Given the description of an element on the screen output the (x, y) to click on. 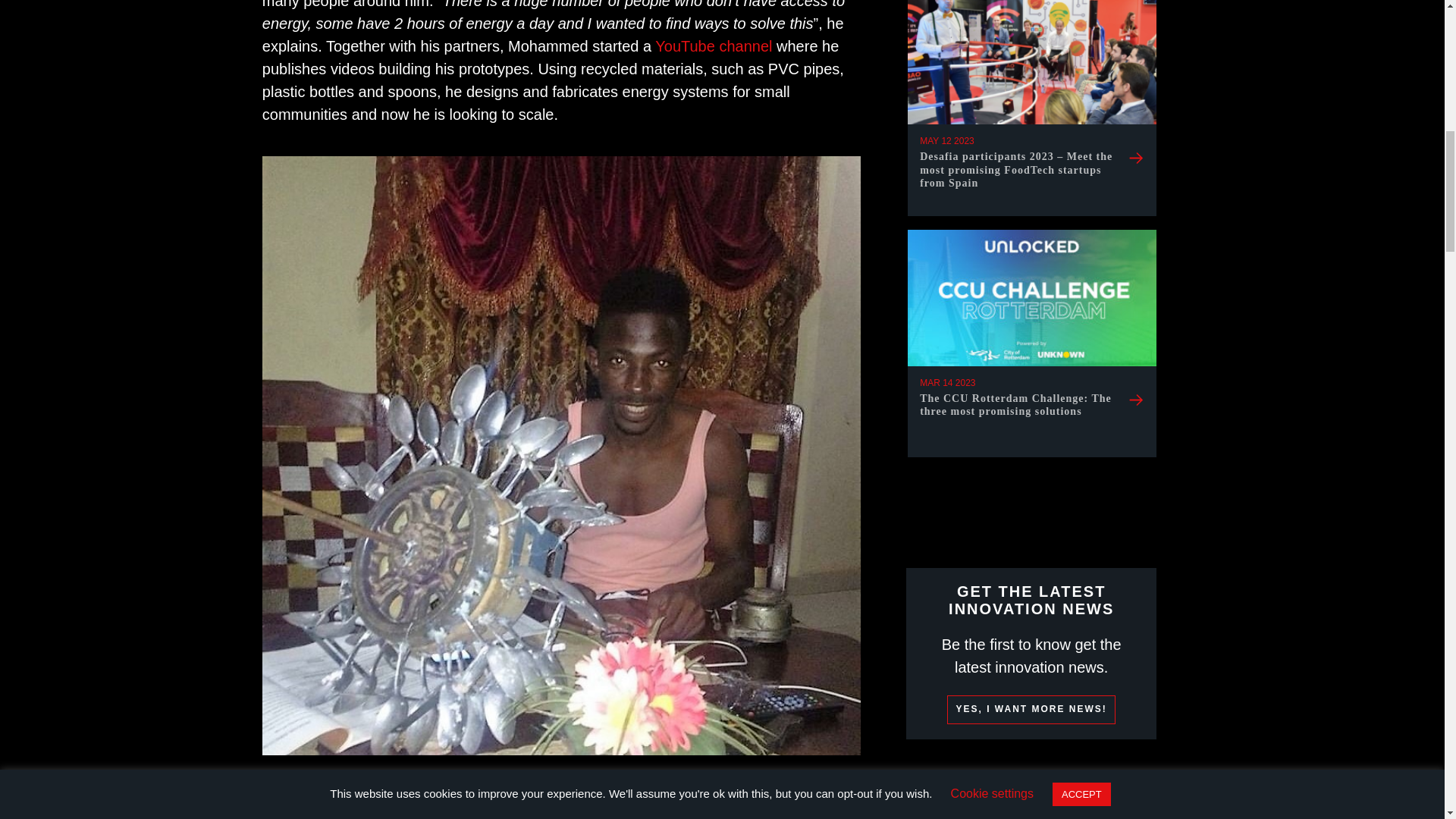
YouTube channel (713, 45)
